Given the description of an element on the screen output the (x, y) to click on. 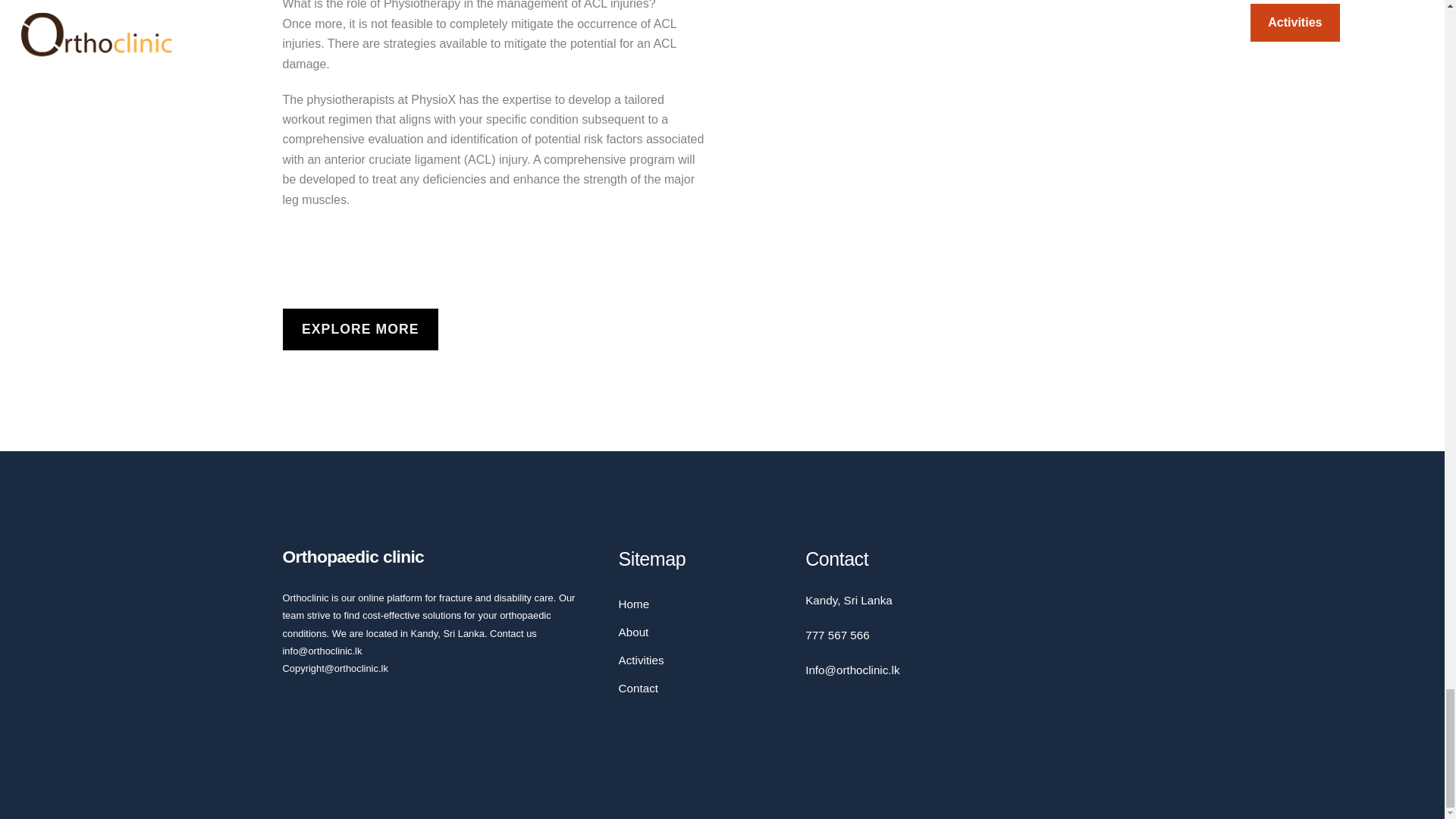
Contact (638, 687)
Orthopaedic clinic (352, 556)
About (633, 631)
Home (633, 603)
EXPLORE MORE (360, 329)
Activities (640, 659)
